Given the description of an element on the screen output the (x, y) to click on. 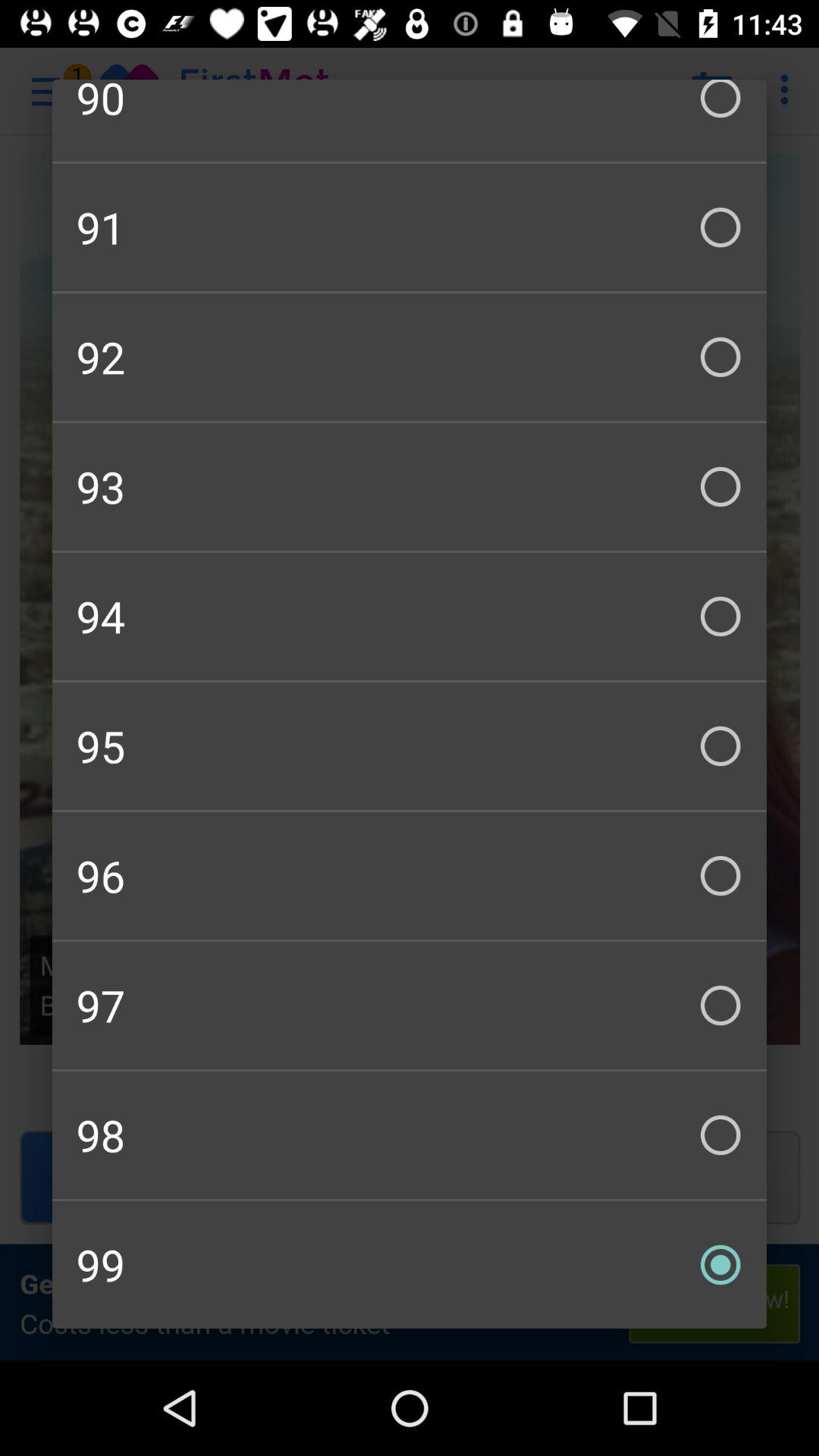
flip until the 94 icon (409, 616)
